Given the description of an element on the screen output the (x, y) to click on. 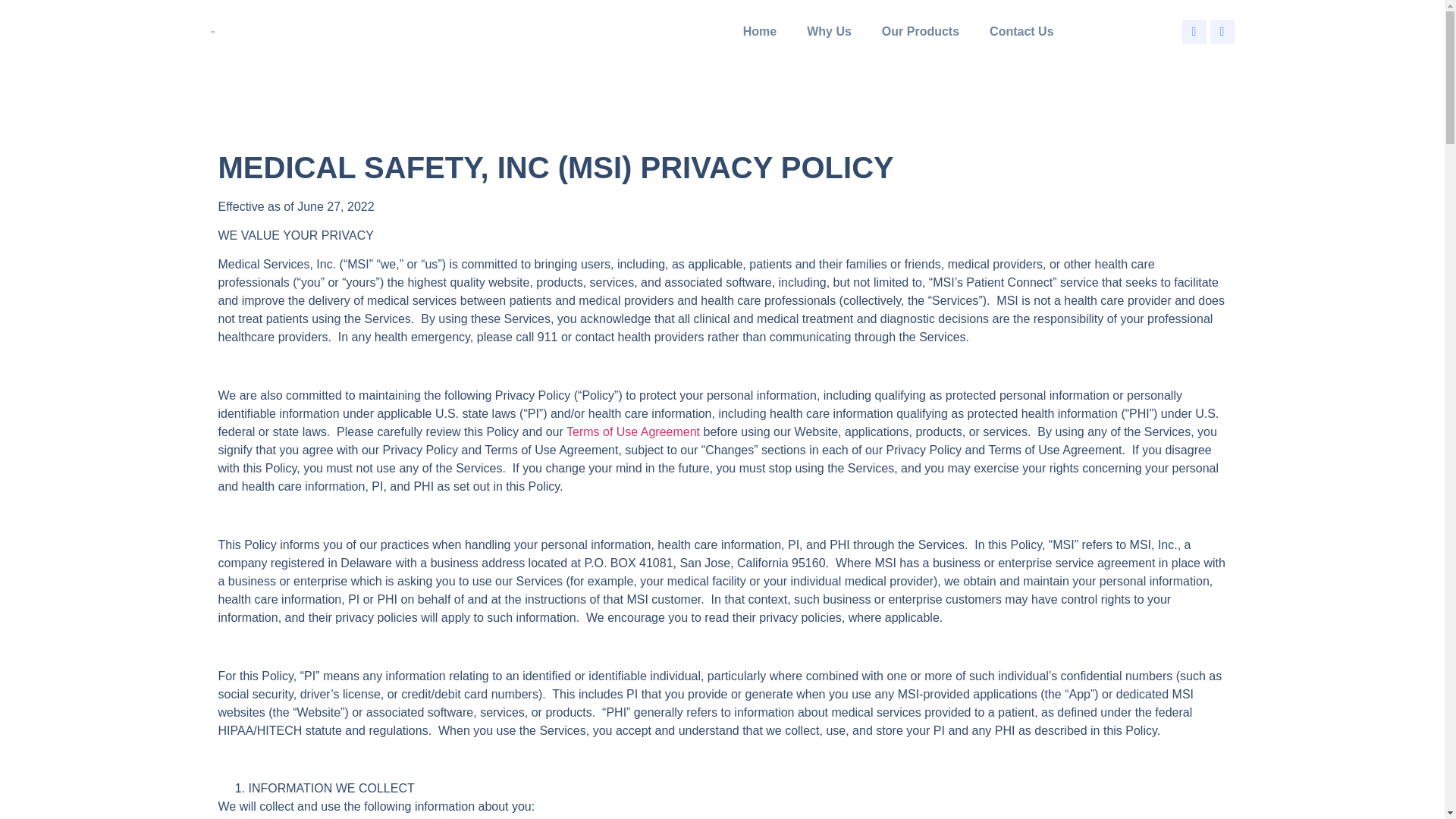
Contact Us (1021, 31)
Our Products (920, 31)
Terms of Use Agreement (633, 431)
Why Us (829, 31)
Home (760, 31)
